Given the description of an element on the screen output the (x, y) to click on. 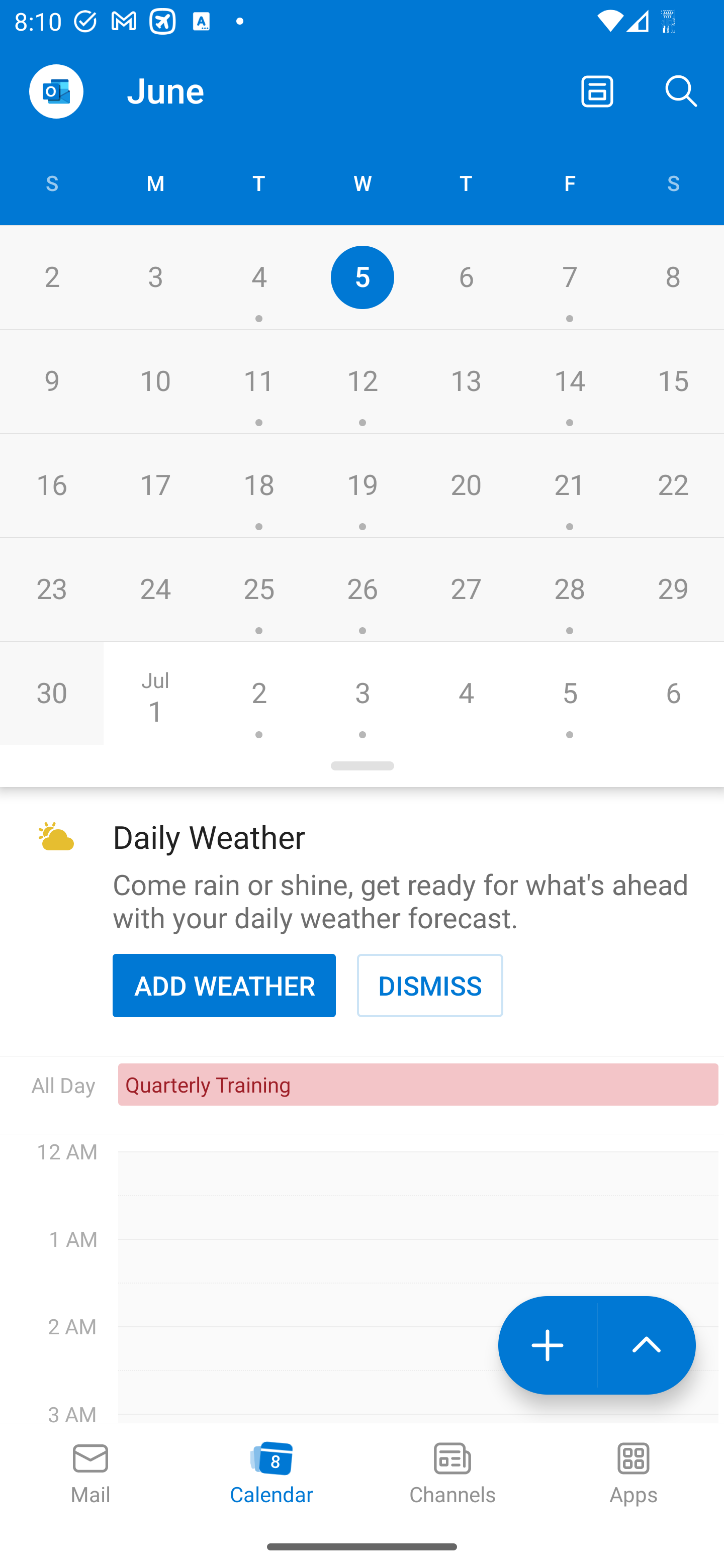
June June 2024, day picker (203, 90)
Switch away from Day view (597, 90)
Search, ,  (681, 90)
Open Navigation Drawer (55, 91)
2 Sunday, June 2 (51, 277)
3 Monday, June 3 (155, 277)
4 Events on Tuesday, June 4 (258, 277)
5 Events on Wednesday, June 5, Selected (362, 277)
6 Thursday, June 6 (465, 277)
7 Events on Friday, June 7 (569, 277)
8 Saturday, June 8 (672, 277)
9 Sunday, June 9 (51, 380)
10 Monday, June 10 (155, 380)
11 Events on Tuesday, June 11 (258, 380)
12 Events on Wednesday, June 12 (362, 380)
13 Thursday, June 13 (465, 380)
14 Events on Friday, June 14 (569, 380)
15 Saturday, June 15 (672, 380)
16 Sunday, June 16 (51, 485)
17 Monday, June 17 (155, 485)
